Given the description of an element on the screen output the (x, y) to click on. 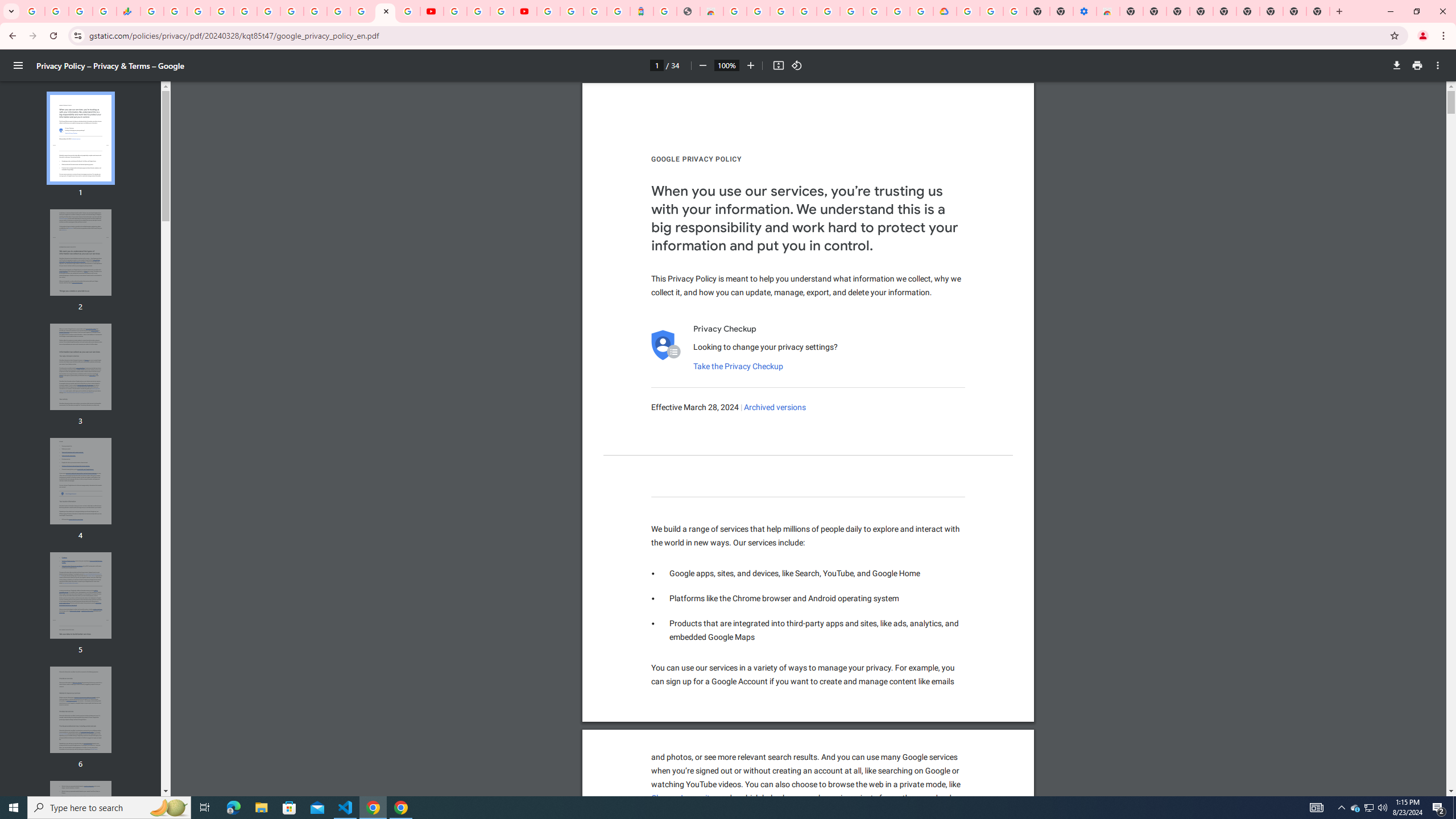
Menu (17, 65)
Sign in - Google Accounts (221, 11)
Chrome Incognito (682, 798)
Archived versions (775, 406)
Zoom out (702, 65)
New Tab (1131, 11)
Zoom in (750, 65)
Download (1396, 65)
